Given the description of an element on the screen output the (x, y) to click on. 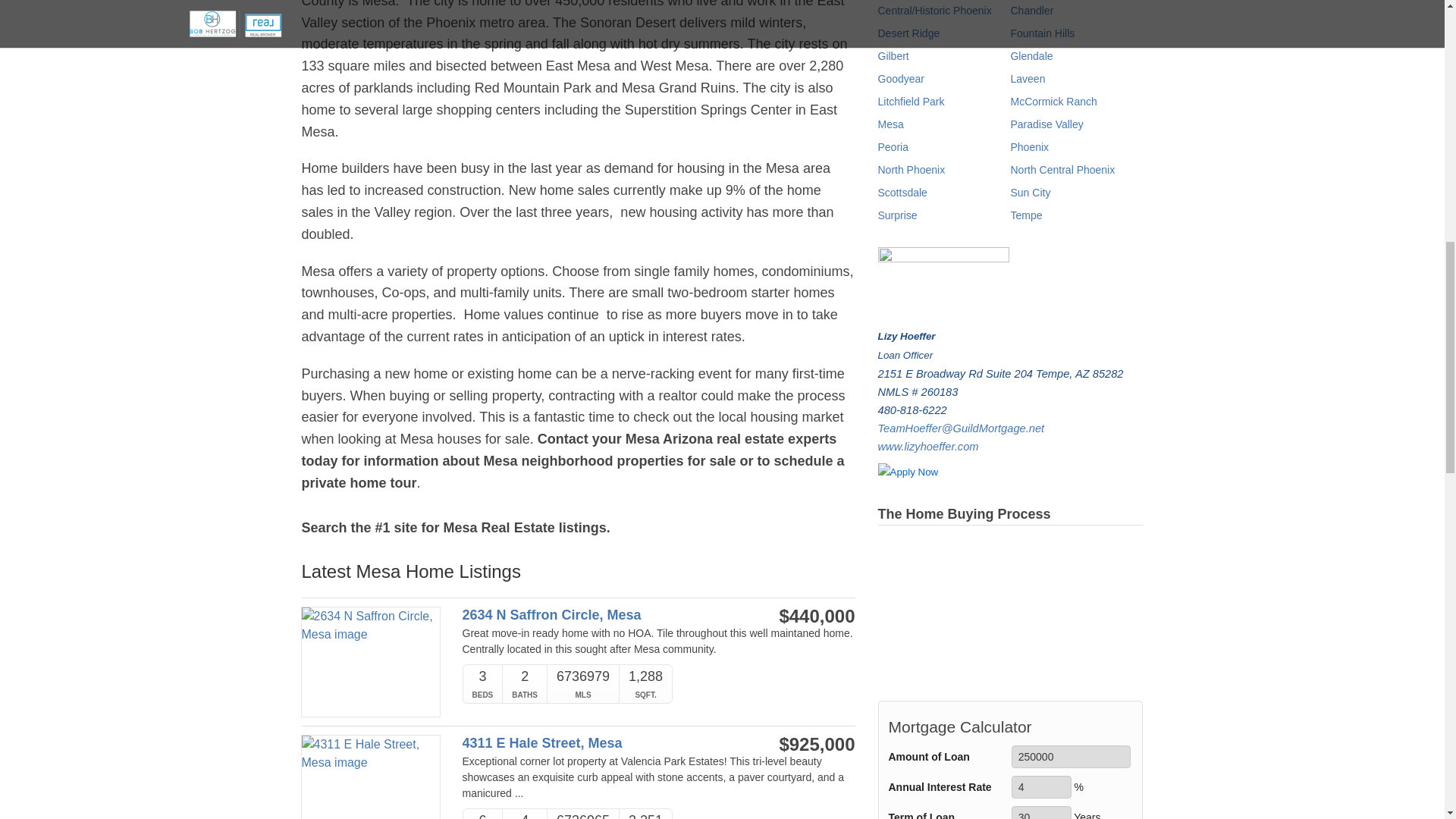
250000 (1071, 756)
Guild Mortgage (918, 474)
4311 E Hale Street, Mesa (600, 743)
30 (1041, 812)
4 (1041, 786)
2634 N Saffron Circle, Mesa (600, 615)
